Given the description of an element on the screen output the (x, y) to click on. 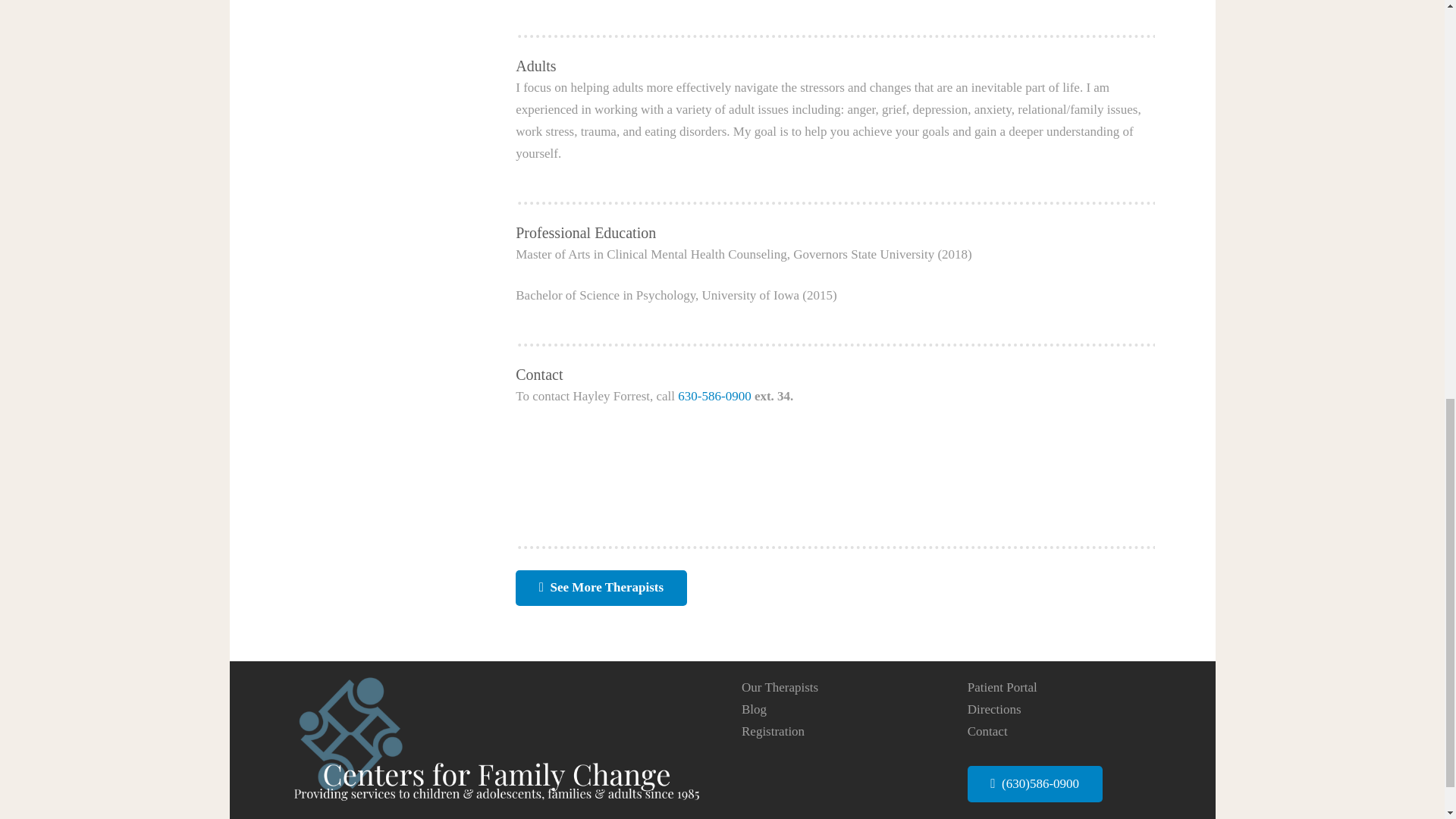
grant (600, 588)
Back to top (1413, 26)
